Given the description of an element on the screen output the (x, y) to click on. 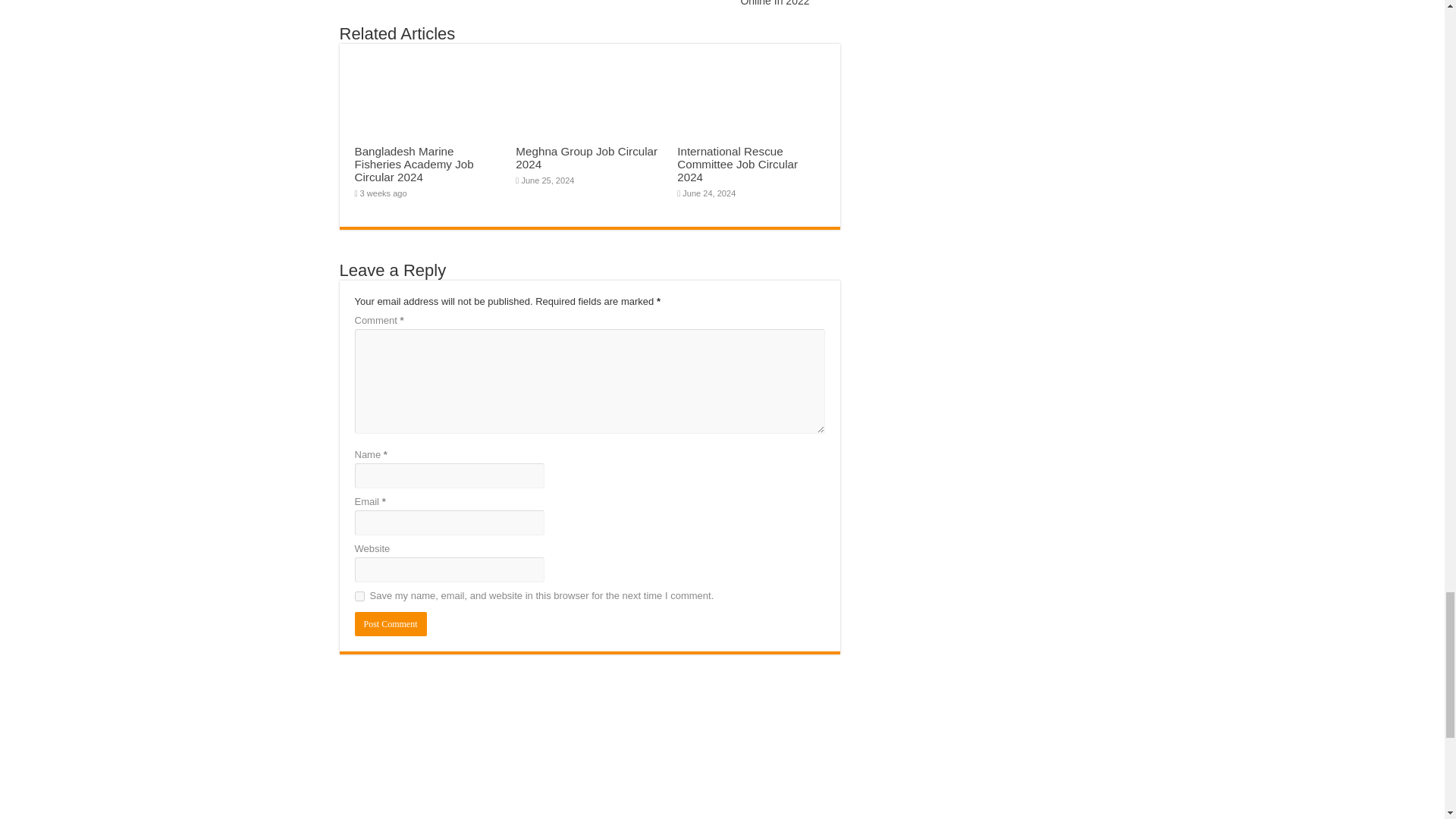
yes (360, 596)
Post Comment (390, 623)
